Given the description of an element on the screen output the (x, y) to click on. 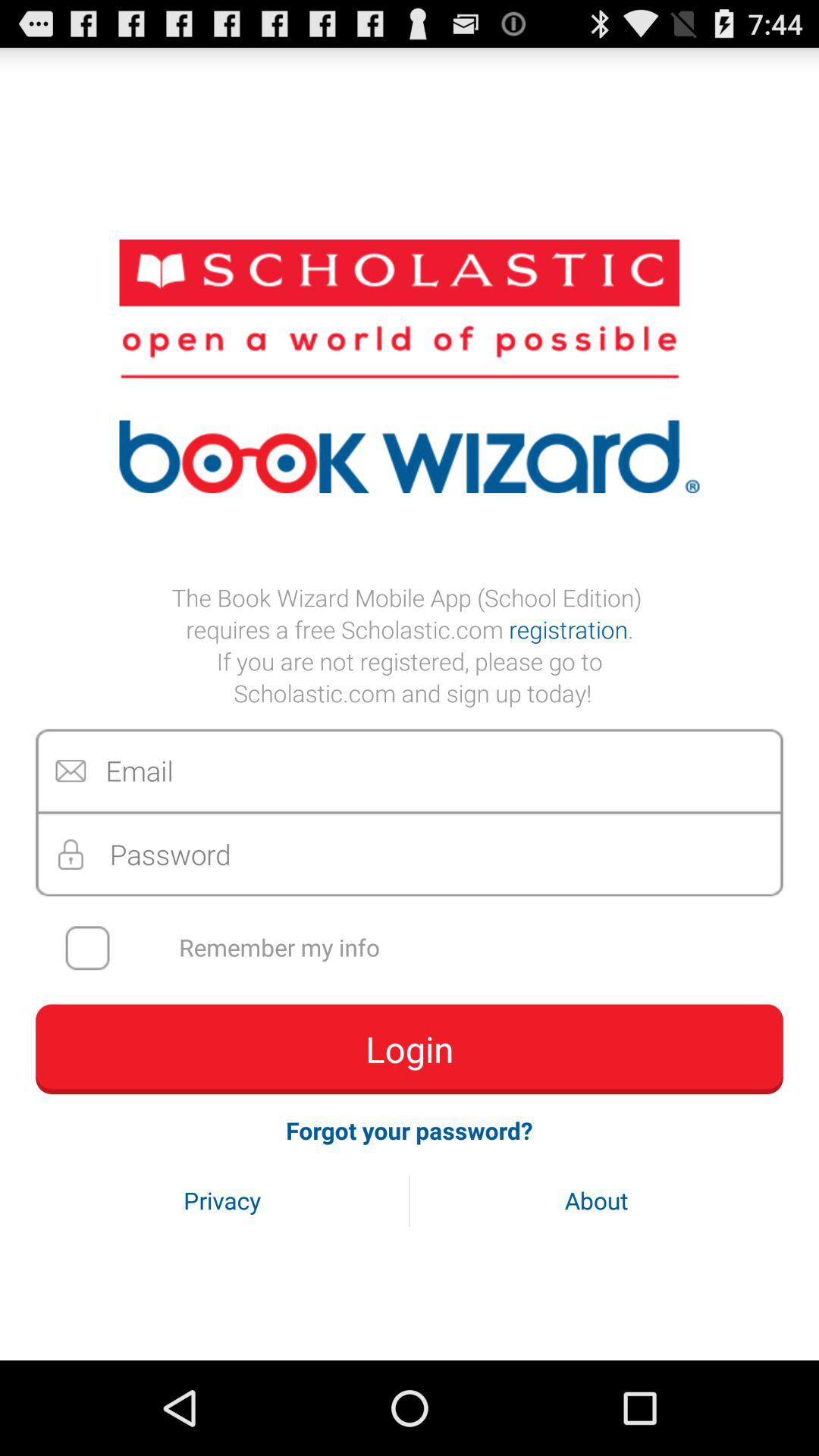
tap button next to the about (221, 1200)
